Given the description of an element on the screen output the (x, y) to click on. 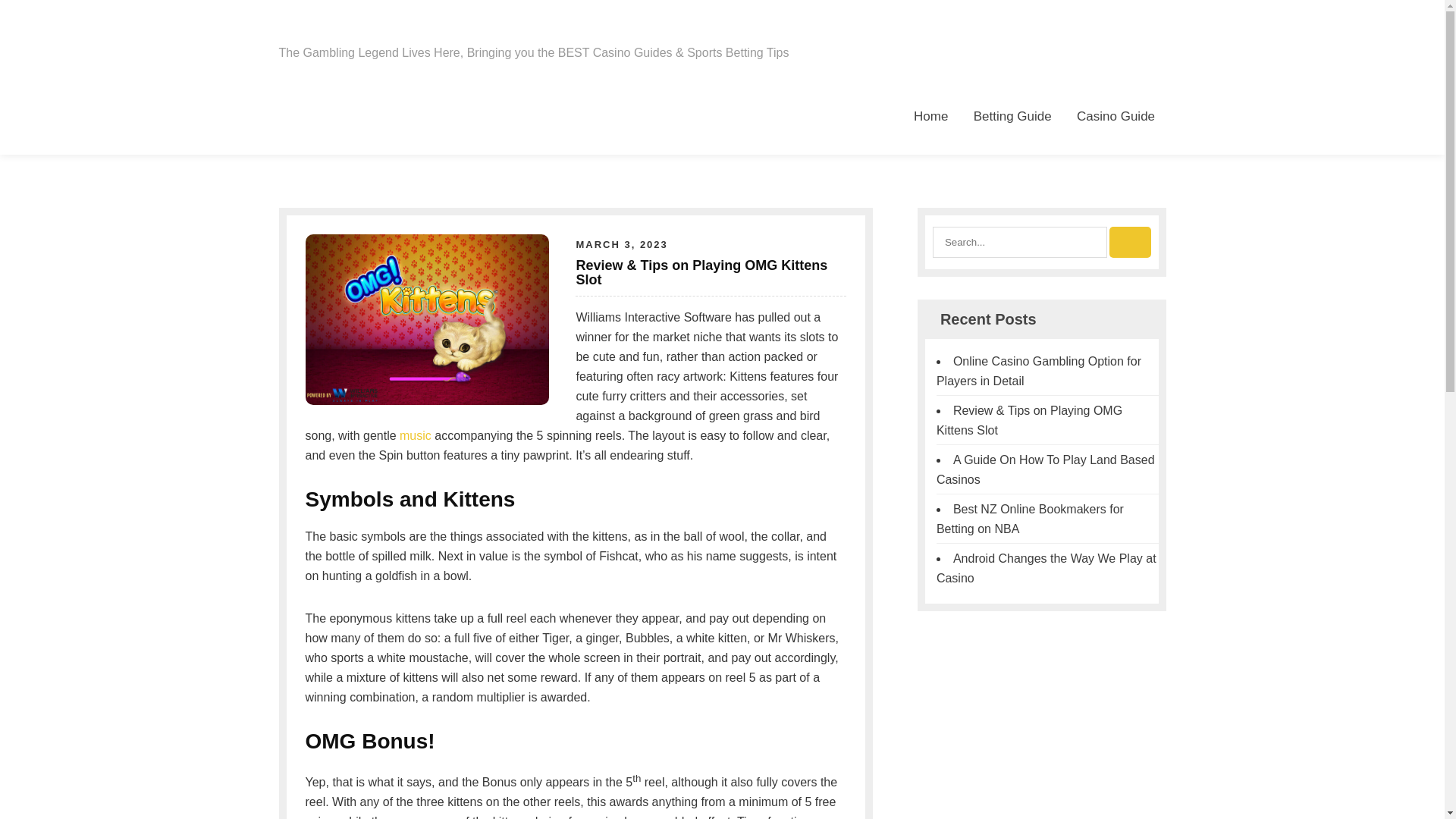
Home (930, 116)
Search (1130, 241)
Casino Guide (1115, 116)
Dot's Gambling Blog (405, 28)
Best NZ Online Bookmakers for Betting on NBA (1030, 518)
music (414, 435)
Android Changes the Way We Play at Casino (1046, 568)
Search (1130, 241)
Search (1130, 241)
A Guide On How To Play Land Based Casinos (1045, 469)
